Given the description of an element on the screen output the (x, y) to click on. 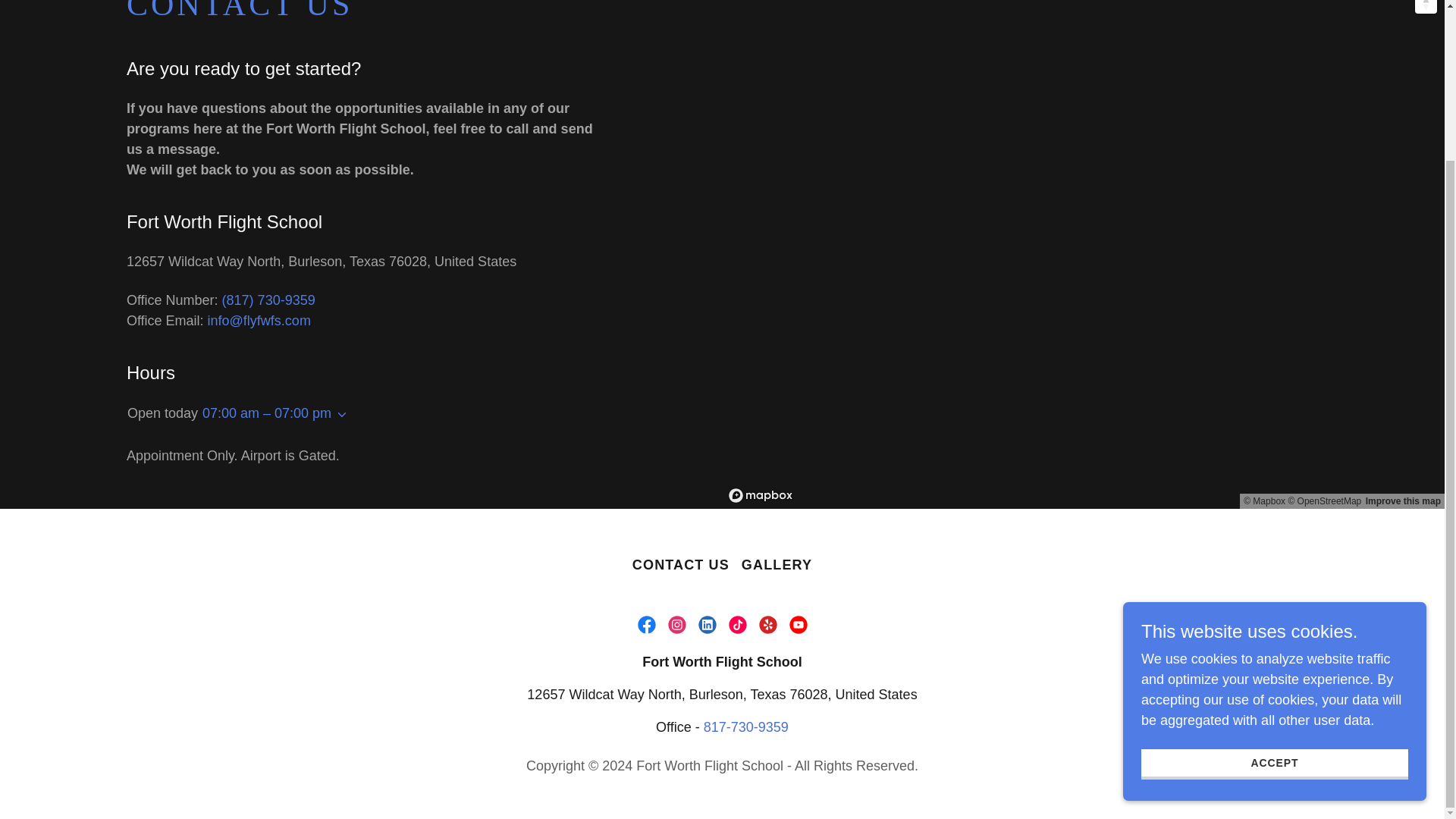
Improve this map (1403, 501)
OpenStreetMap (1324, 501)
Mapbox (1264, 501)
Reset bearing to north (1426, 6)
